Given the description of an element on the screen output the (x, y) to click on. 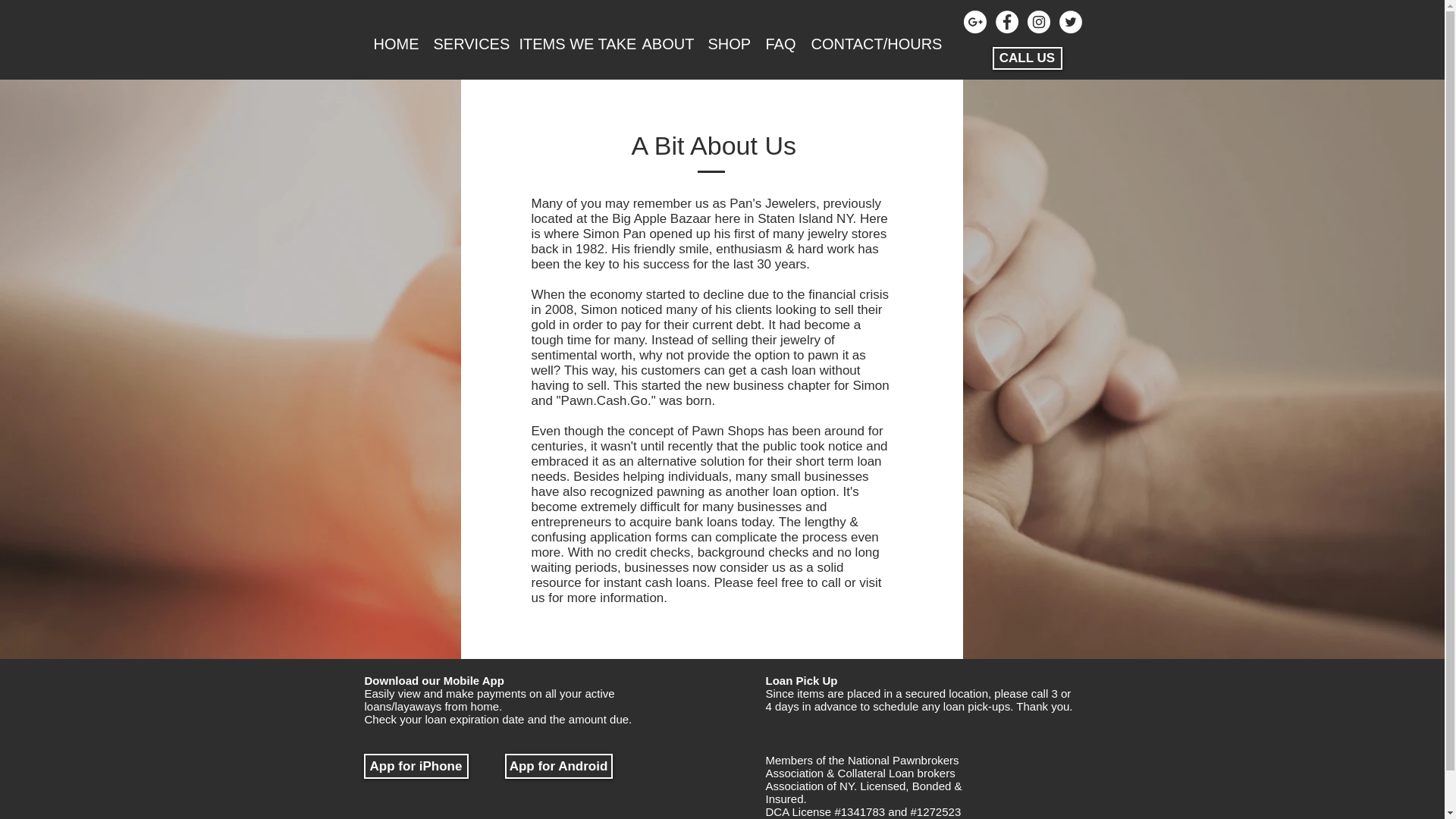
HOME (393, 42)
ABOUT (664, 42)
App for iPhone (416, 765)
SHOP (726, 42)
ITEMS WE TAKE (570, 42)
FAQ (777, 42)
SERVICES (465, 42)
CALL US (1026, 57)
App for Android (558, 765)
